Given the description of an element on the screen output the (x, y) to click on. 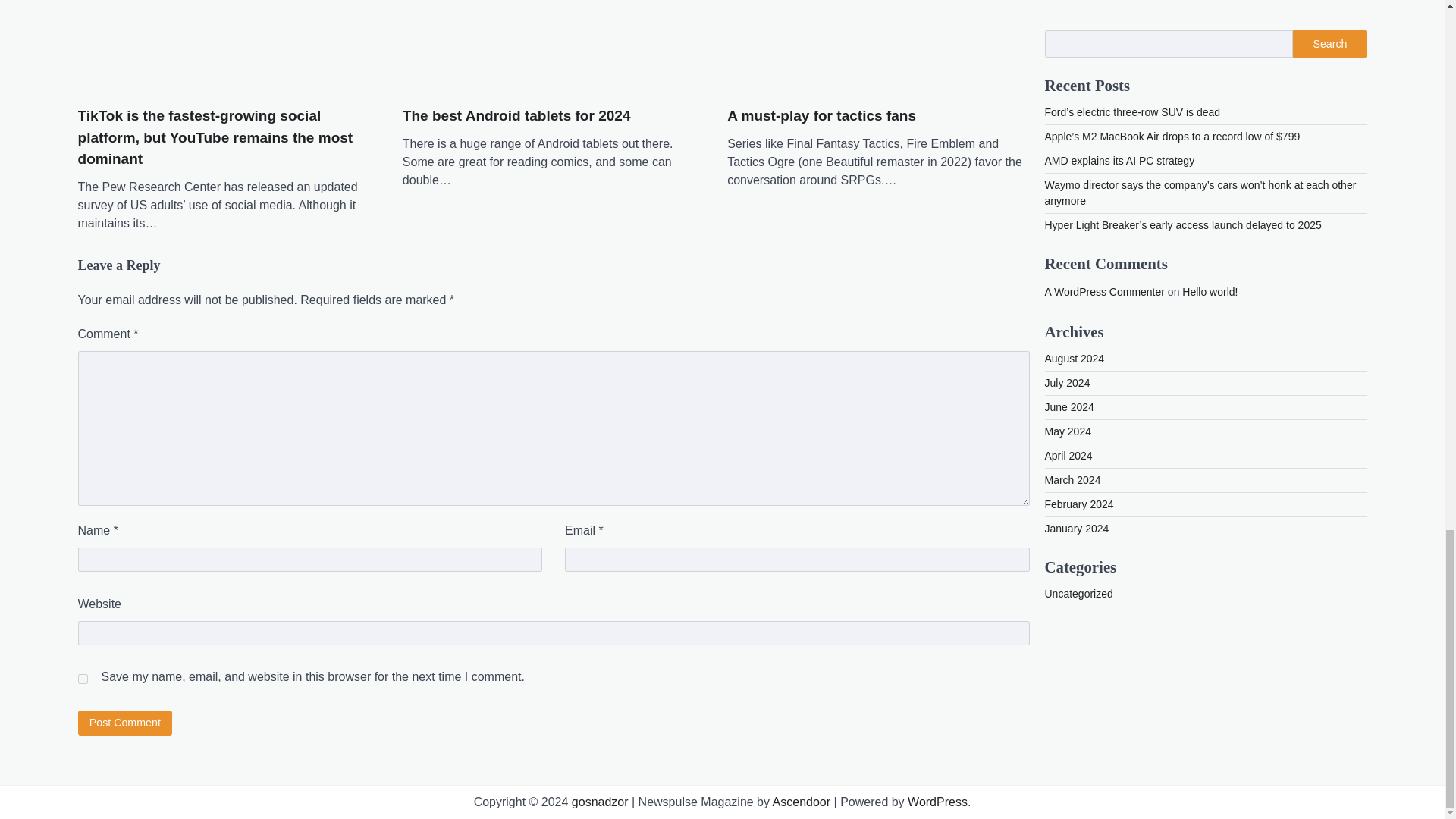
yes (82, 678)
The best Android tablets for 2024 (516, 116)
Post Comment (124, 722)
A must-play for tactics fans (820, 116)
Post Comment (124, 722)
